Given the description of an element on the screen output the (x, y) to click on. 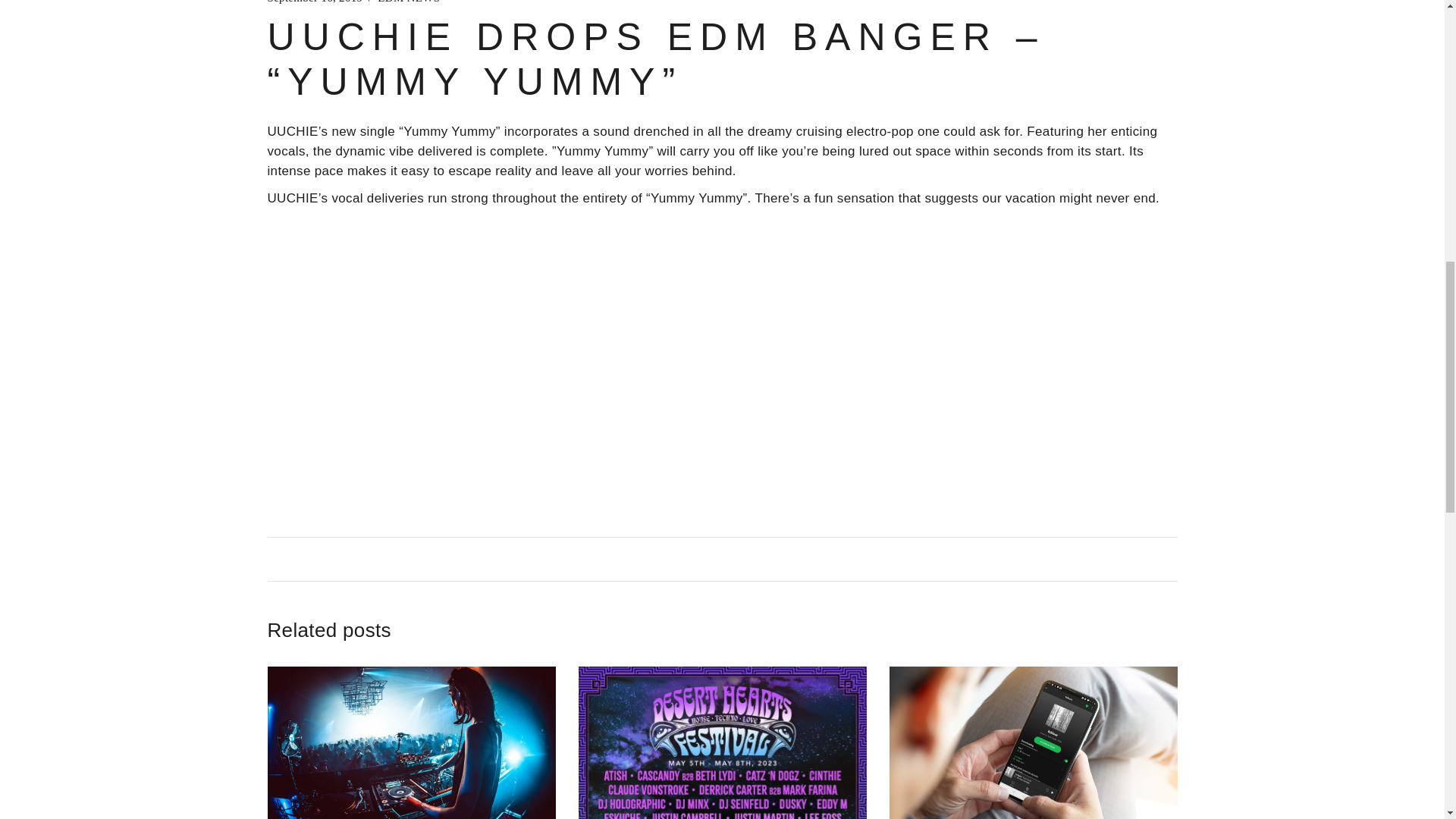
UUCHIE (291, 131)
EDM NEWS (408, 4)
September 16, 2019 (314, 4)
